Given the description of an element on the screen output the (x, y) to click on. 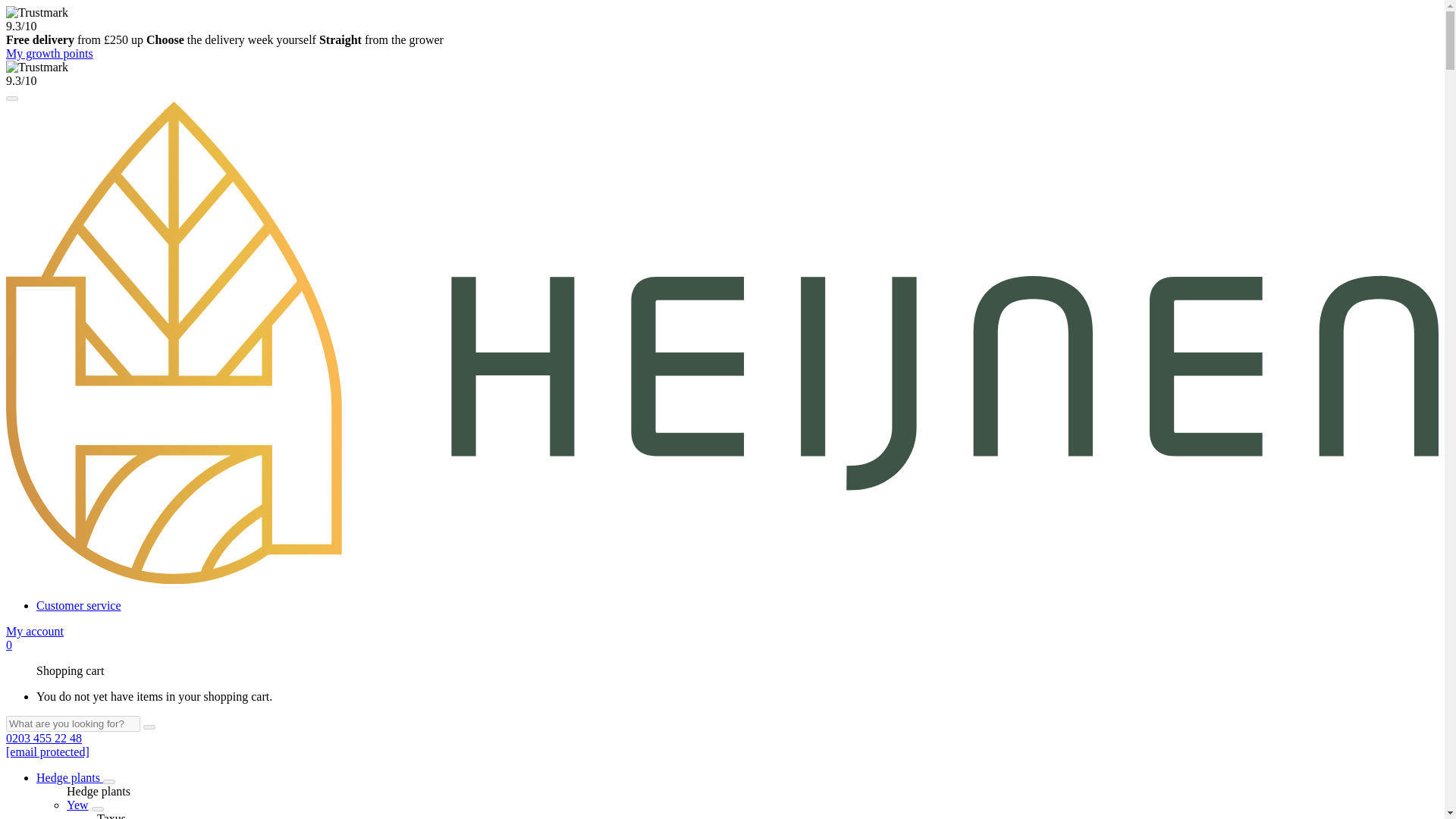
Menu (11, 98)
Hedge plants (69, 777)
My growth points (49, 52)
Submenu (109, 781)
Yew (77, 804)
Customer service (78, 604)
Submenu (97, 808)
0203 455 22 48 (43, 738)
